Given the description of an element on the screen output the (x, y) to click on. 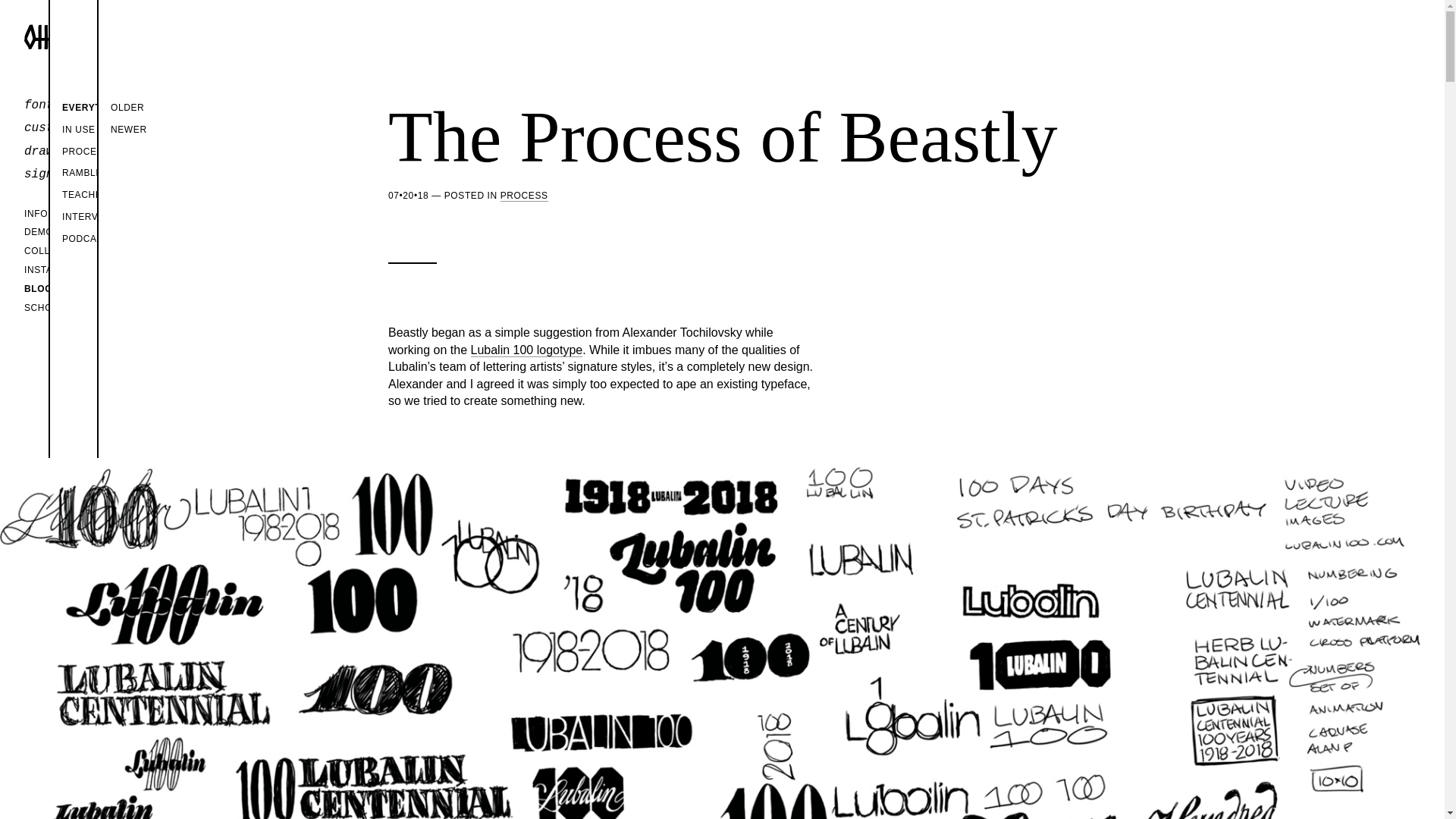
PROCESS (121, 151)
BLOG (72, 288)
sign in (72, 174)
COLLECTIONS (72, 250)
SCHOOL (72, 308)
fonts (72, 105)
RAMBLINGS (121, 173)
OH no Type Company (50, 36)
INSTAGRAM (72, 269)
NEWER (171, 129)
EVERYTHING (121, 107)
Lubalin 100 logotype (526, 350)
DEMO FONTS (72, 232)
PROCESS (524, 195)
TEACHING (121, 195)
